Given the description of an element on the screen output the (x, y) to click on. 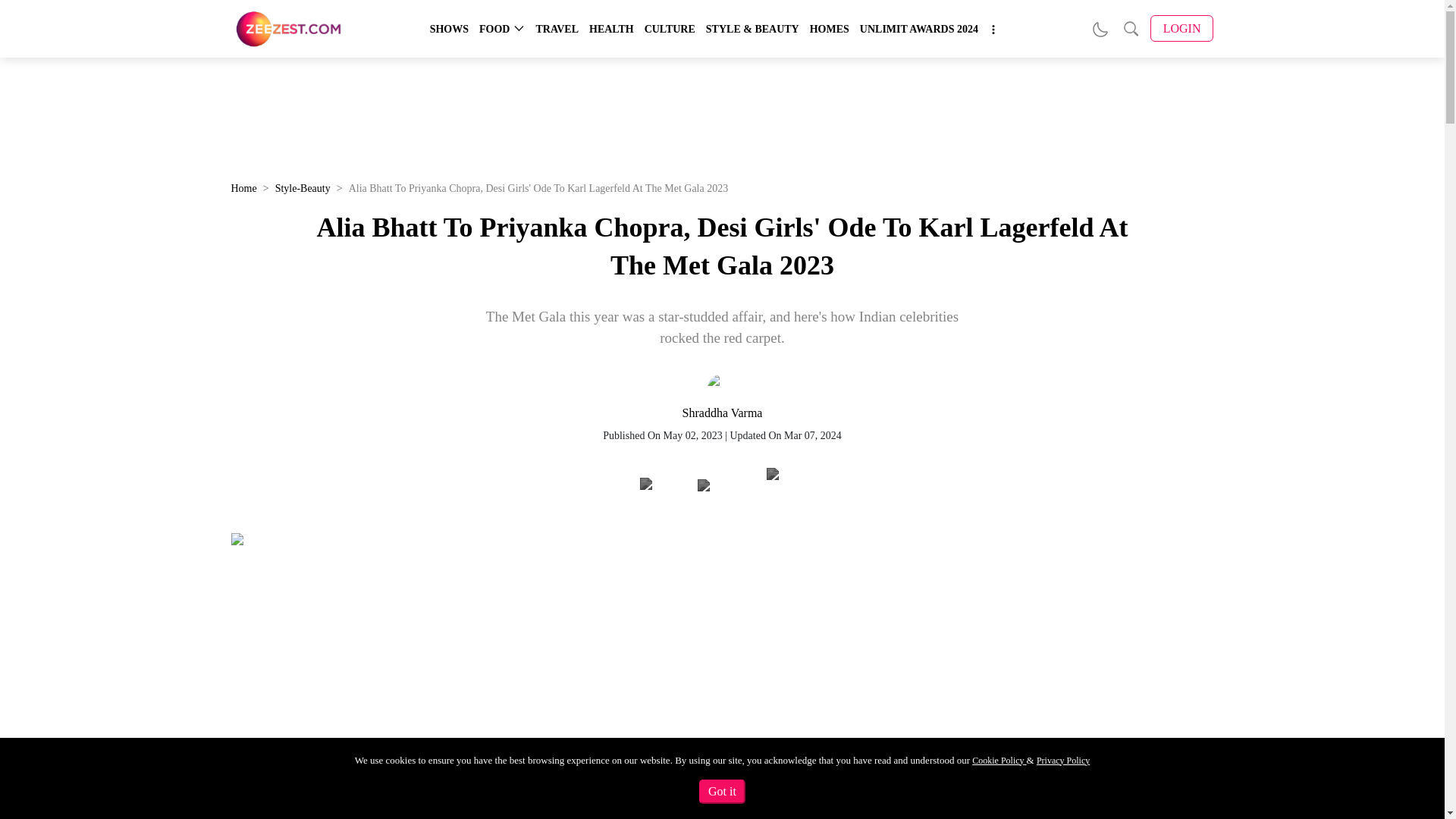
FOOD (494, 28)
HEALTH (611, 28)
CULTURE (670, 28)
SHOWS (448, 28)
HOMES (828, 28)
TRAVEL (556, 28)
UNLIMIT AWARDS 2024 (919, 28)
LOGIN (1182, 28)
